Given the description of an element on the screen output the (x, y) to click on. 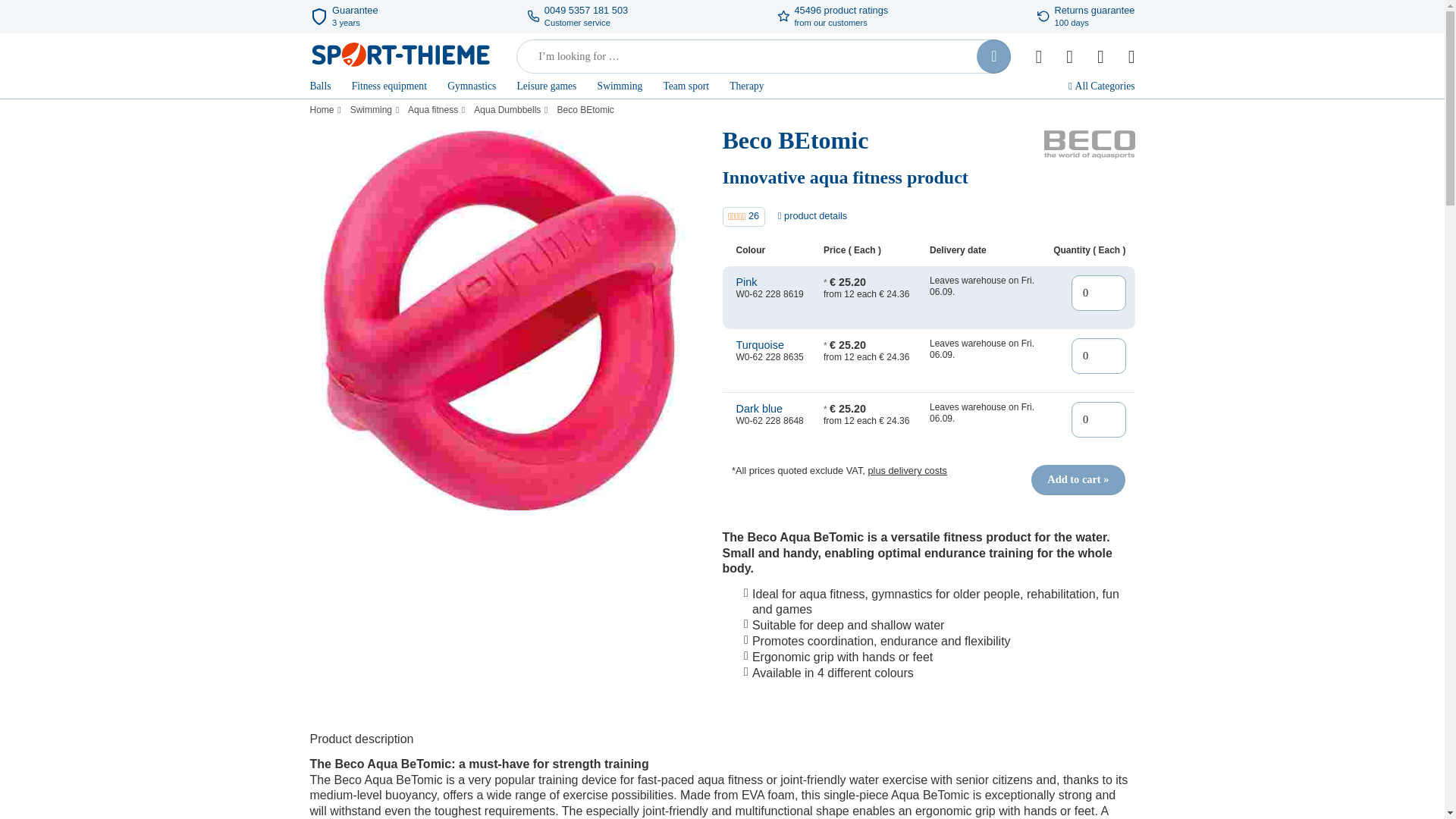
Swimming (373, 110)
0 (1097, 420)
Dark blue (770, 409)
Therapy (745, 88)
Aqua fitness (434, 110)
Swimming (619, 88)
0 (1097, 293)
Pink (770, 282)
Leisure games (546, 88)
product details (812, 215)
